Given the description of an element on the screen output the (x, y) to click on. 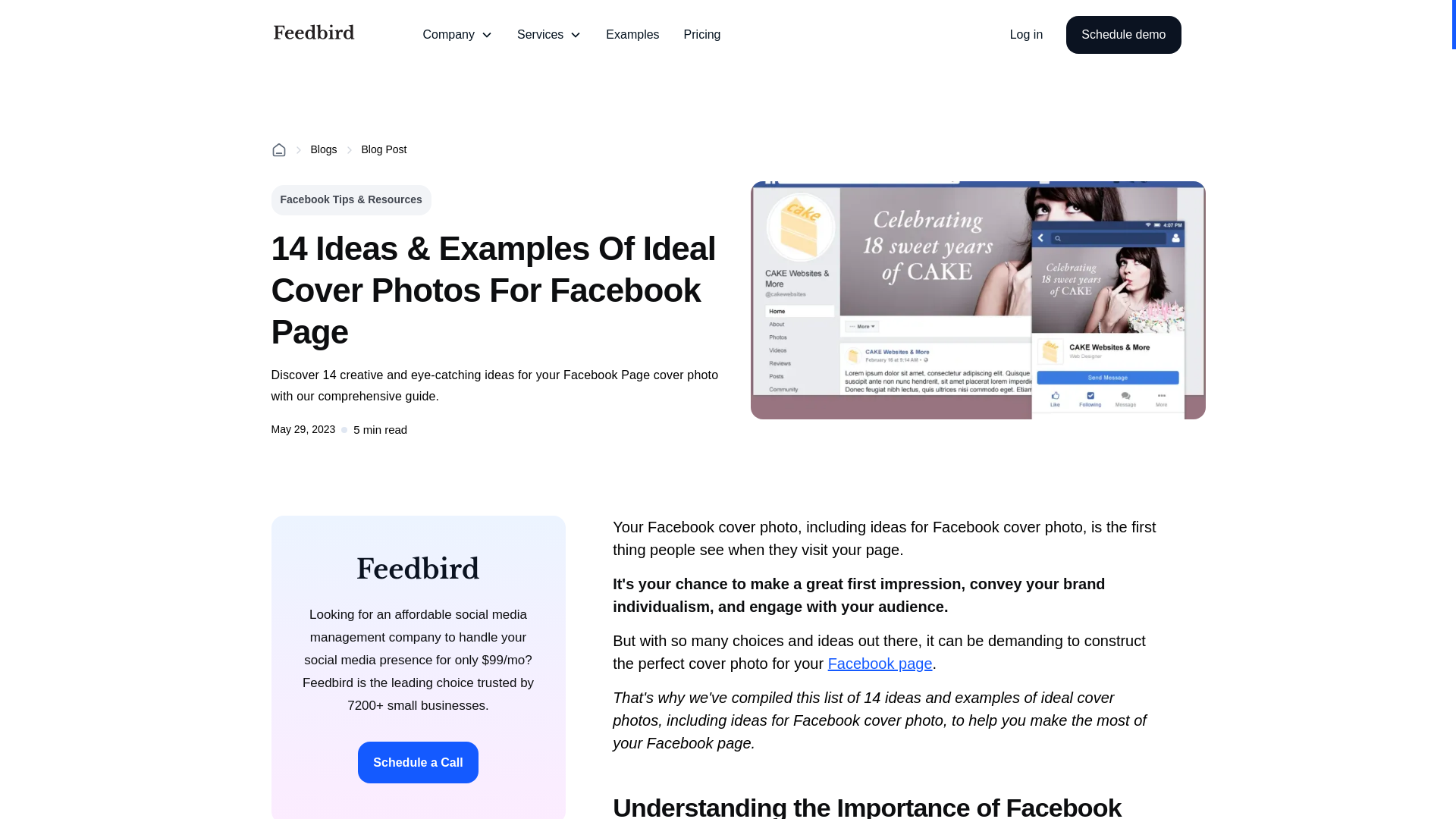
Pricing (702, 34)
Blog Post (384, 149)
Examples (632, 34)
Blogs (324, 149)
Schedule demo (1122, 34)
Log in (1026, 34)
